Given the description of an element on the screen output the (x, y) to click on. 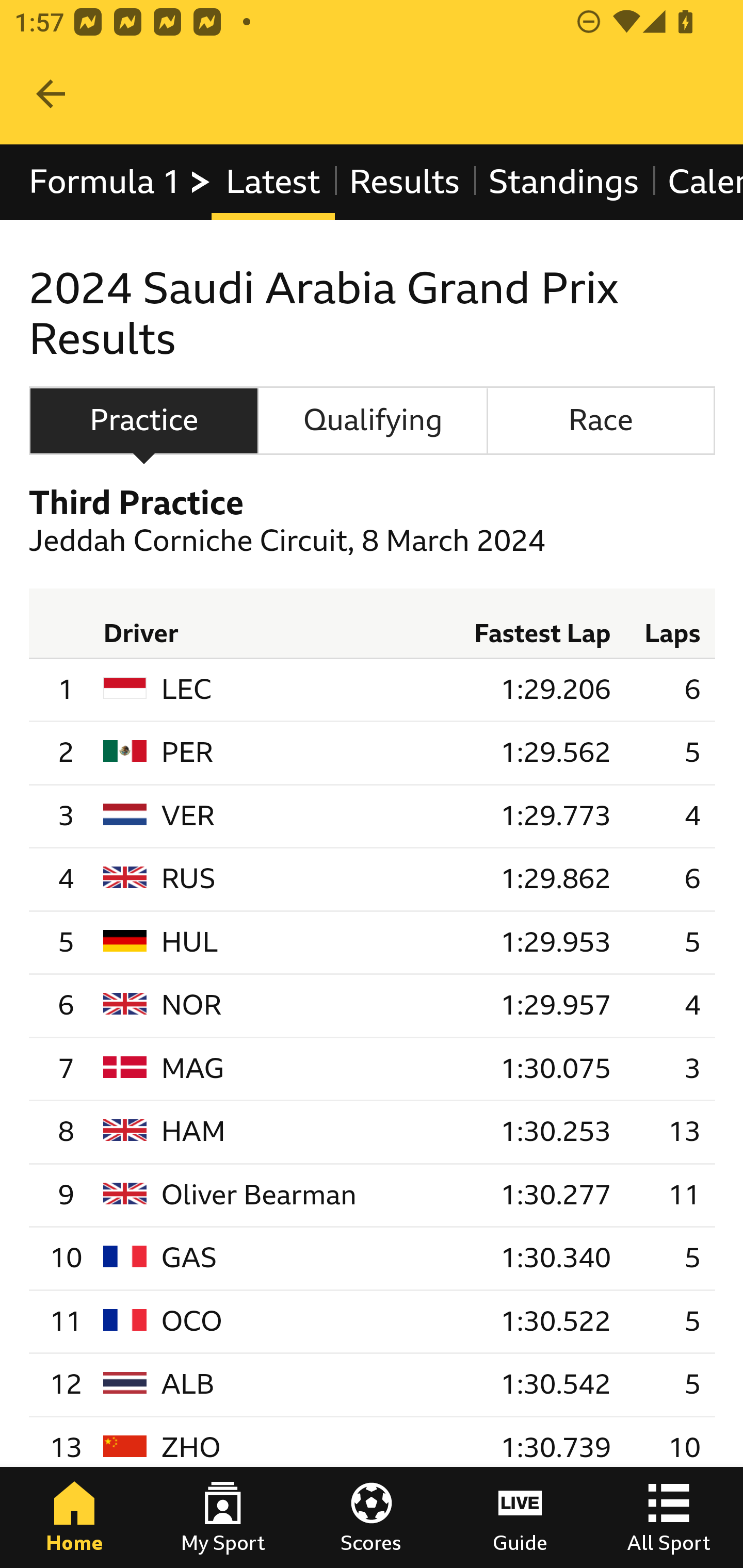
Navigate up (50, 93)
Formula 1  (120, 181)
Latest (272, 181)
Results (403, 181)
Standings (564, 181)
Practice (142, 419)
Qualifying (372, 419)
Race (600, 419)
My Sport (222, 1517)
Scores (371, 1517)
Guide (519, 1517)
All Sport (668, 1517)
